Given the description of an element on the screen output the (x, y) to click on. 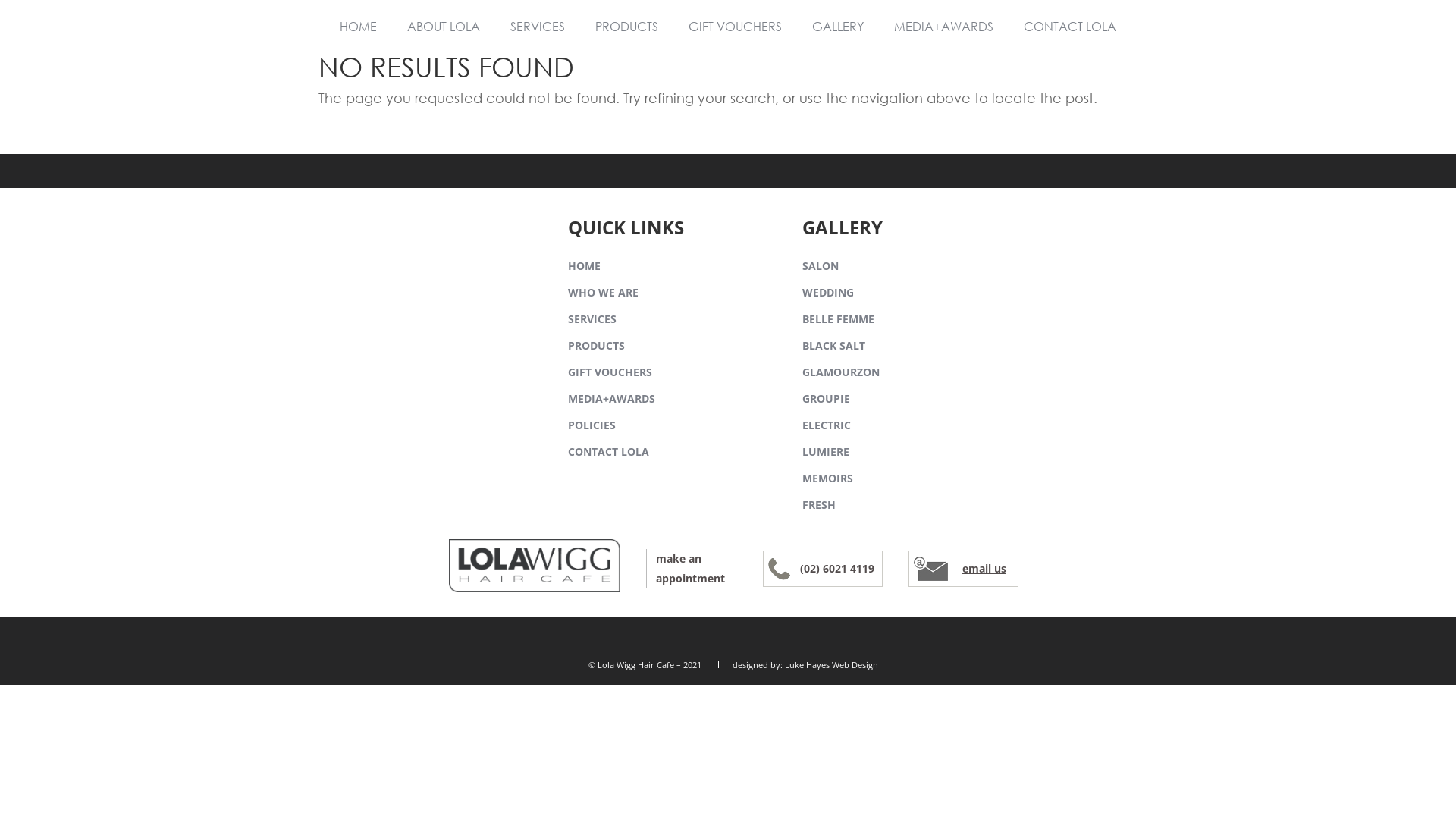
Luke Hayes Web Design Element type: text (831, 664)
WEDDING Element type: text (827, 293)
POLICIES Element type: text (591, 426)
GIFT VOUCHERS Element type: text (609, 373)
GALLERY Element type: text (837, 26)
PRODUCTS Element type: text (595, 346)
MEDIA+AWARDS Element type: text (611, 399)
ABOUT LOLA Element type: text (443, 26)
SERVICES Element type: text (537, 26)
GLAMOURZON Element type: text (840, 373)
FRESH Element type: text (818, 505)
PRODUCTS Element type: text (626, 26)
(02) 6021 4119 Element type: text (836, 568)
HOME Element type: text (583, 267)
make an appointment Element type: text (691, 568)
BLACK SALT Element type: text (833, 346)
email us Element type: text (983, 568)
CONTACT LOLA Element type: text (1069, 26)
GIFT VOUCHERS Element type: text (735, 26)
HOME Element type: text (358, 26)
SALON Element type: text (820, 267)
LUMIERE Element type: text (825, 452)
WHO WE ARE Element type: text (602, 293)
MEMOIRS Element type: text (827, 479)
BELLE FEMME Element type: text (838, 320)
GROUPIE Element type: text (826, 399)
SERVICES Element type: text (591, 320)
MEDIA+AWARDS Element type: text (943, 26)
ELECTRIC Element type: text (826, 426)
CONTACT LOLA Element type: text (608, 452)
